Given the description of an element on the screen output the (x, y) to click on. 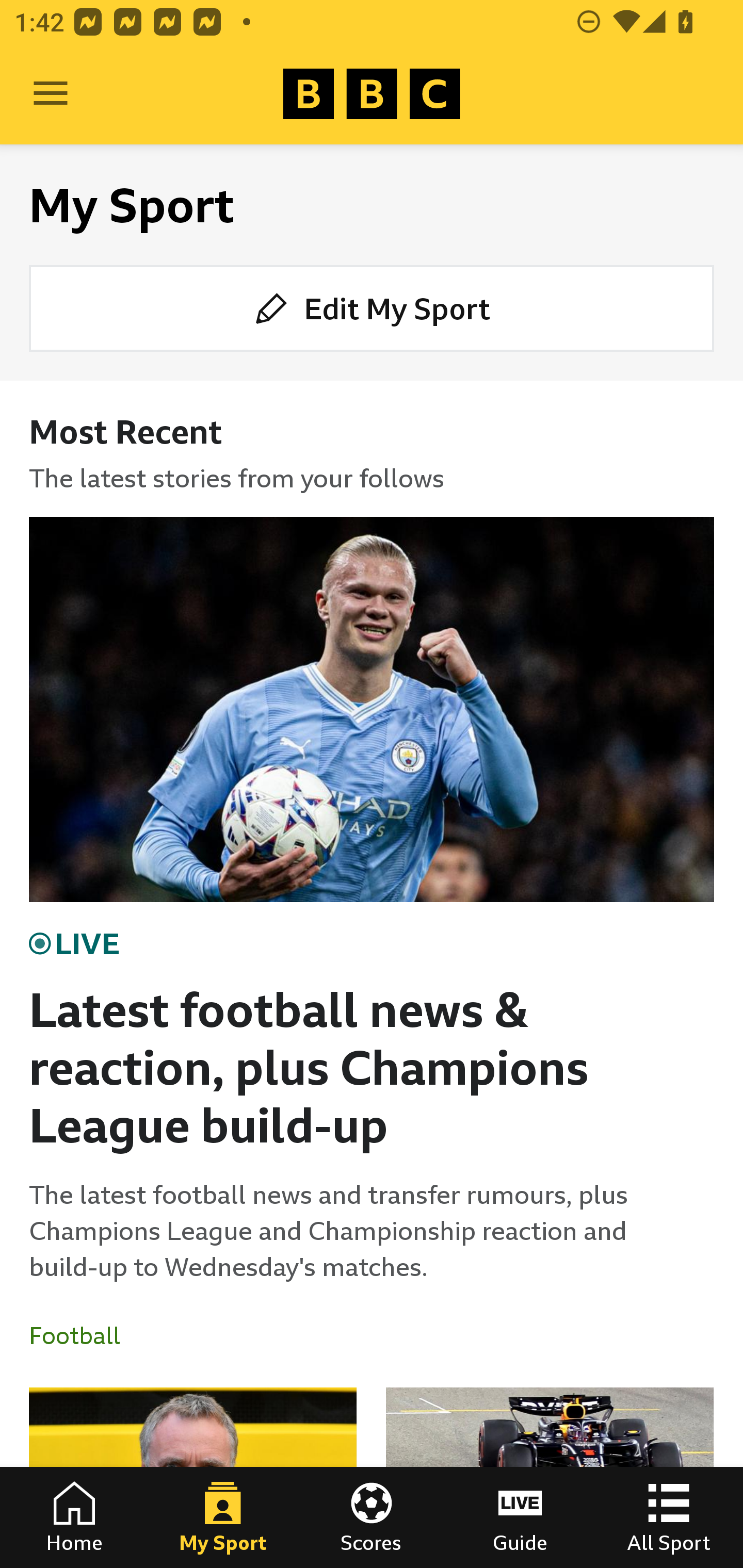
Open Menu (50, 93)
Edit My Sport (371, 307)
Home (74, 1517)
Scores (371, 1517)
Guide (519, 1517)
All Sport (668, 1517)
